Given the description of an element on the screen output the (x, y) to click on. 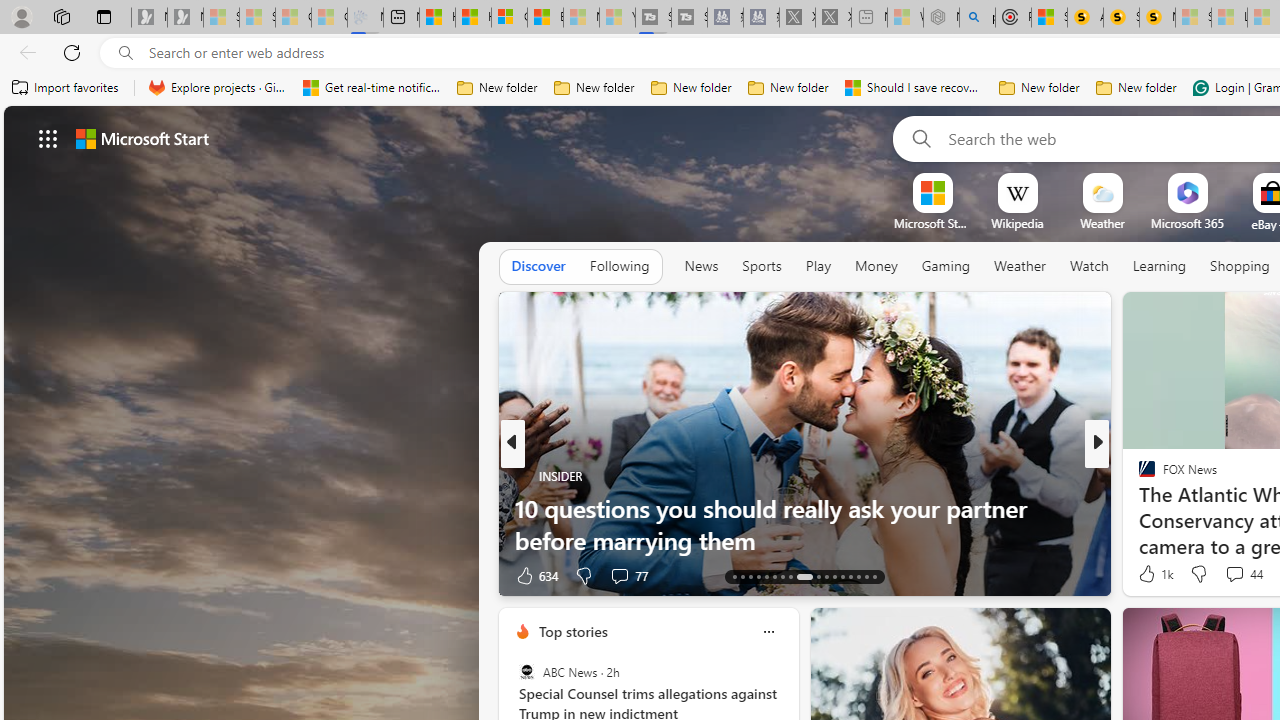
92 Like (1149, 574)
Learning (1159, 267)
Wildlife - MSN - Sleeping (905, 17)
Tribune News Service (1138, 475)
USA TODAY (1138, 475)
5 Like (1145, 574)
Learning (1159, 265)
128 Like (1151, 574)
